Given the description of an element on the screen output the (x, y) to click on. 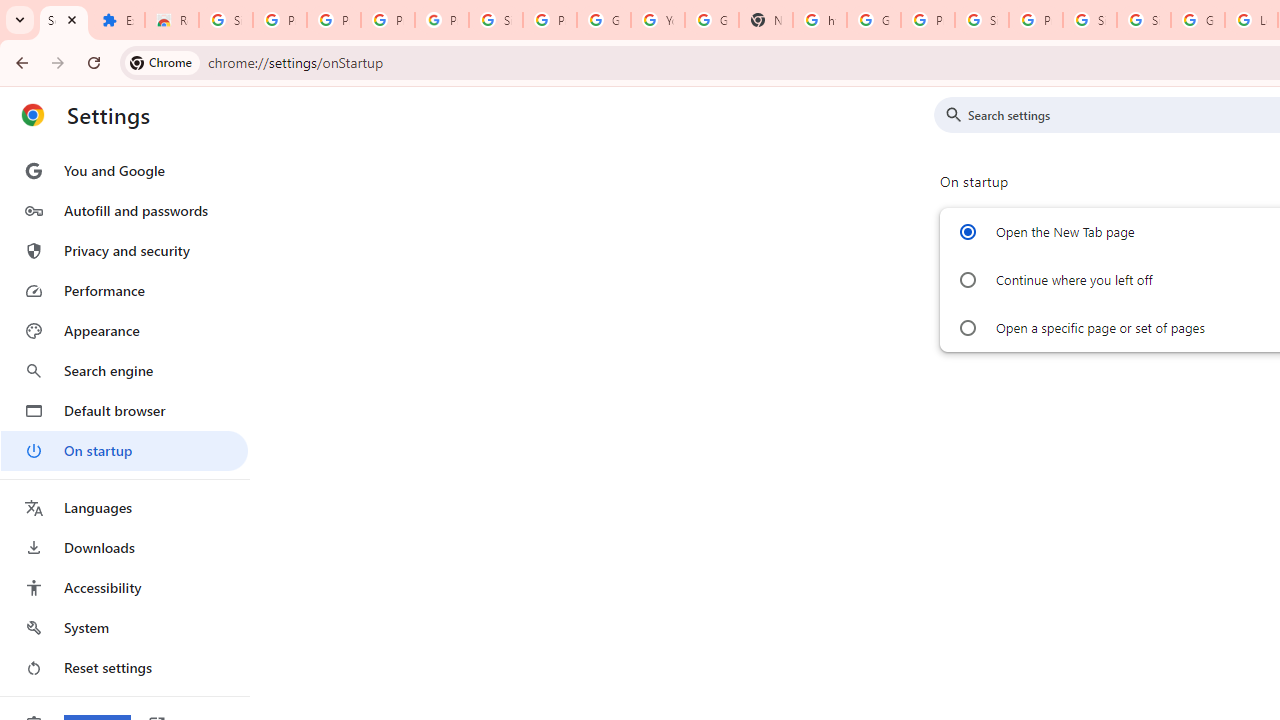
Autofill and passwords (124, 210)
Sign in - Google Accounts (225, 20)
Performance (124, 290)
Reset settings (124, 668)
Accessibility (124, 587)
New Tab (765, 20)
https://scholar.google.com/ (819, 20)
Appearance (124, 331)
